Given the description of an element on the screen output the (x, y) to click on. 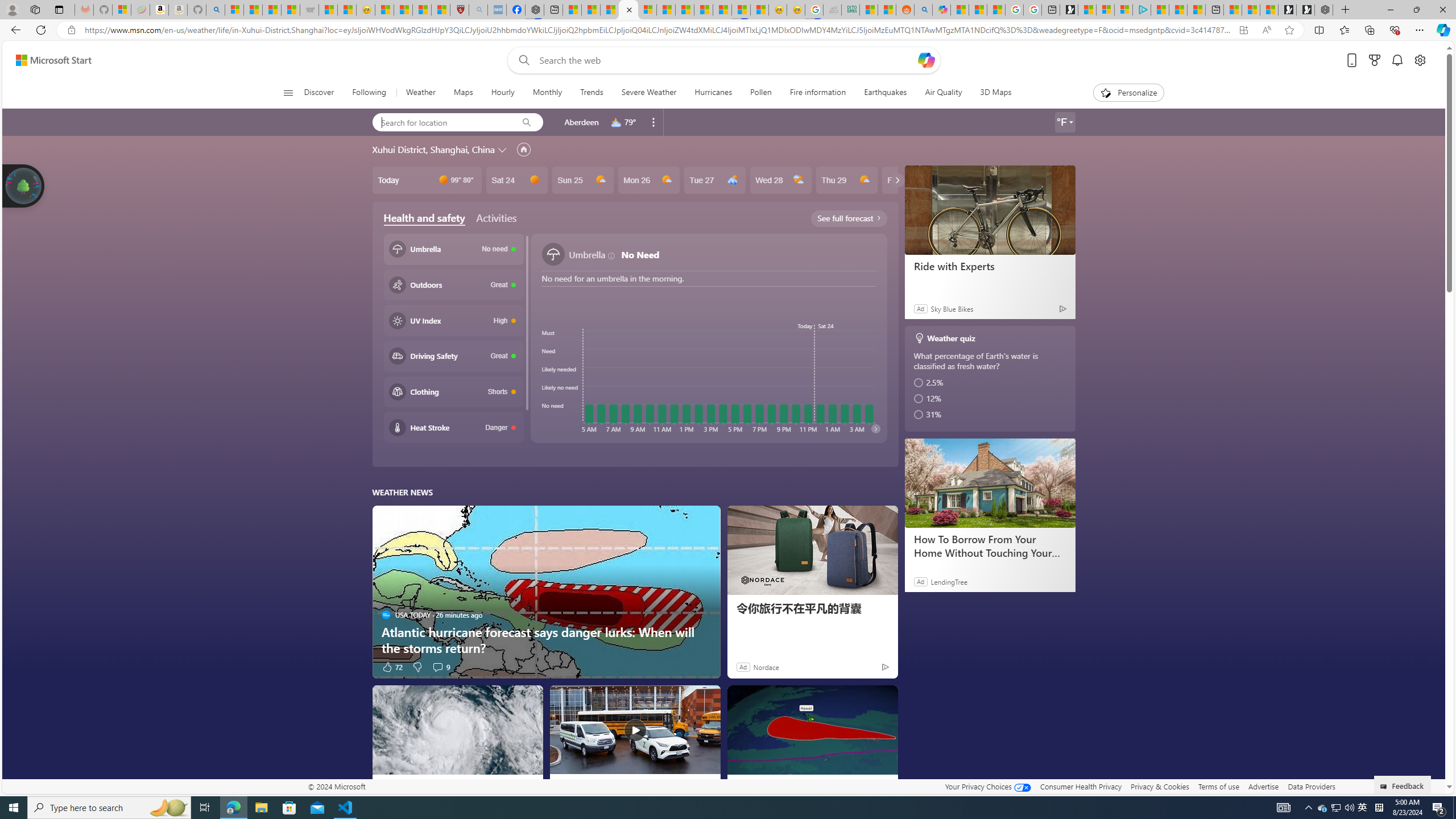
Sat 24 (516, 180)
Hurricanes (713, 92)
2.5% (990, 382)
Trends (590, 92)
